Given the description of an element on the screen output the (x, y) to click on. 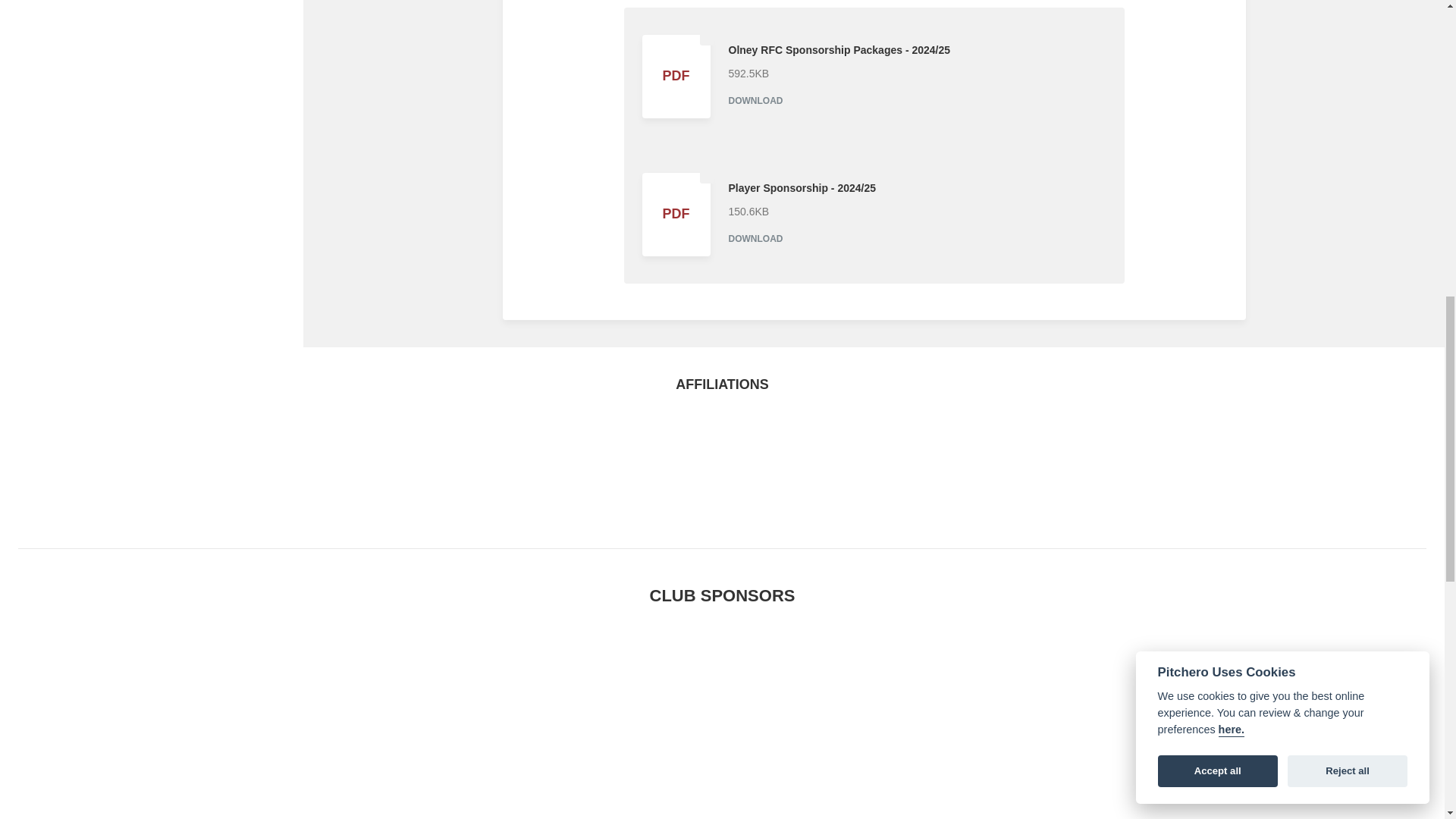
Pitch Sponsor - Francis Jackson Homes (1036, 696)
Post Protector sponsors - CS2 (1194, 696)
Mini and Juniors Shirt Sponsor - Michael Graham (879, 696)
Bronze Club Sponsor - The MPA Group (563, 803)
Premier Sponsor - Eclipse Power Networks (247, 696)
Bronze Club sponsor - Stephanie Price Wealth Planning (1352, 696)
2nd Team Shirt Sponsor - Marcus Jordan (879, 803)
1XV Kit Sponsor - S R Osborn and Son Ltd Fencing (563, 696)
1st Team sponsor - DBF Construction (722, 696)
